Given the description of an element on the screen output the (x, y) to click on. 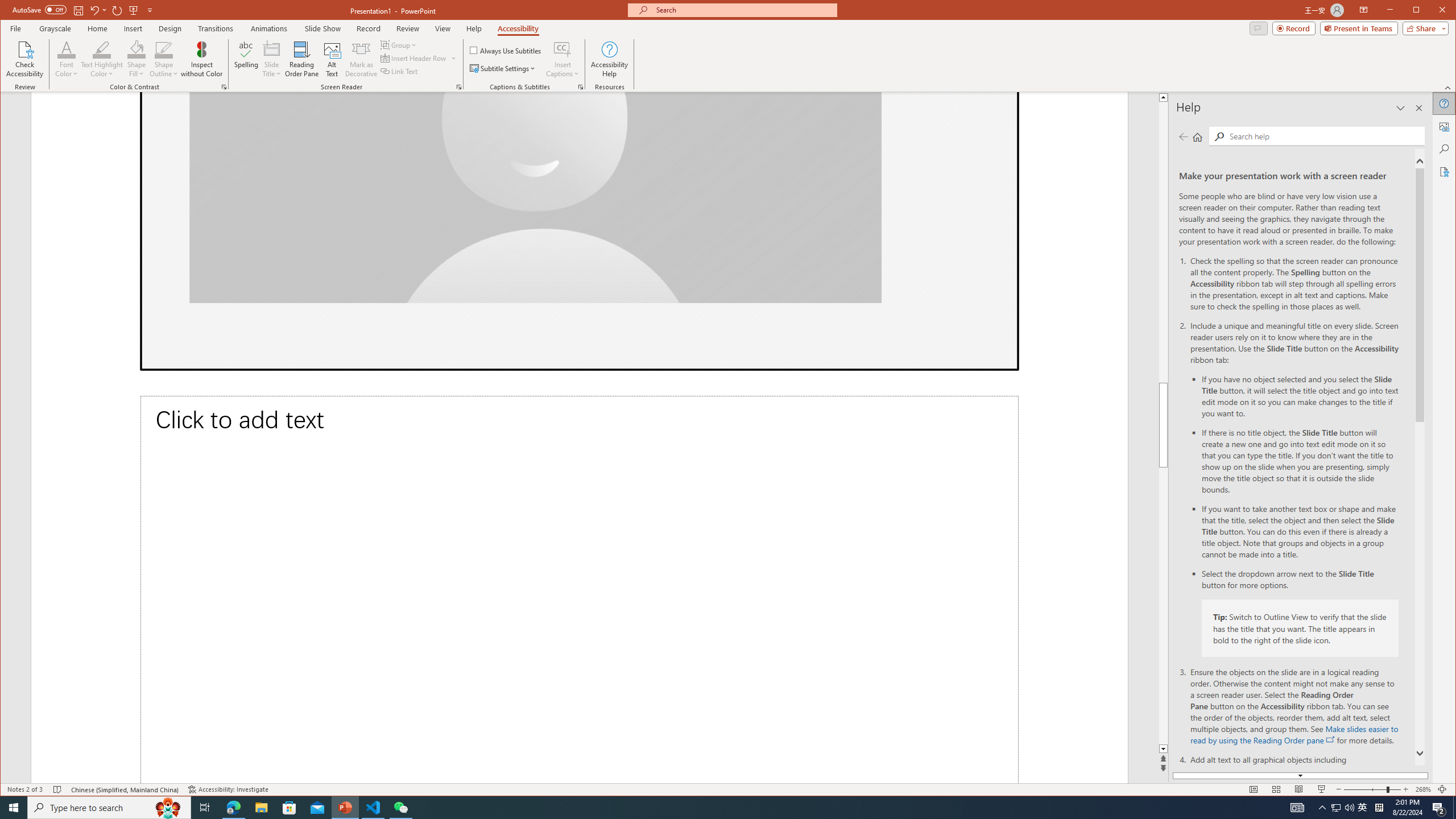
Insert Captions (562, 59)
